Given the description of an element on the screen output the (x, y) to click on. 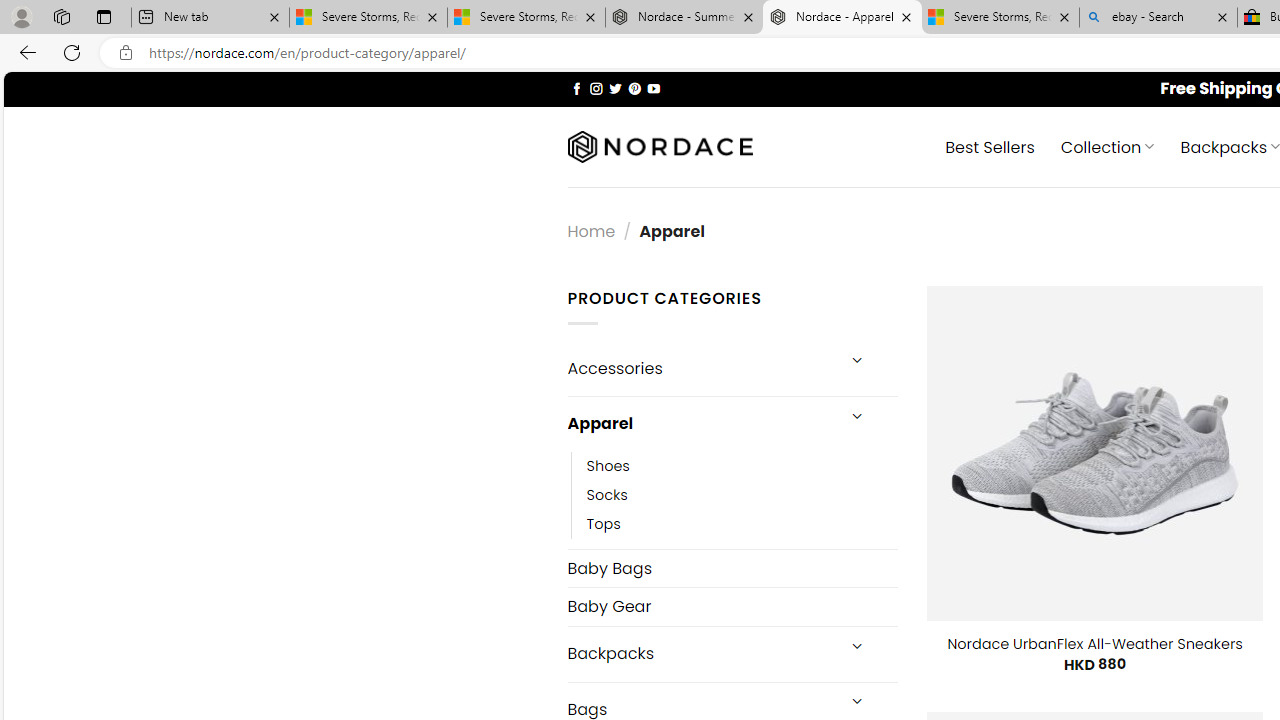
Backpacks (700, 654)
Follow on YouTube (653, 88)
Baby Gear (732, 605)
Accessories (700, 368)
